Given the description of an element on the screen output the (x, y) to click on. 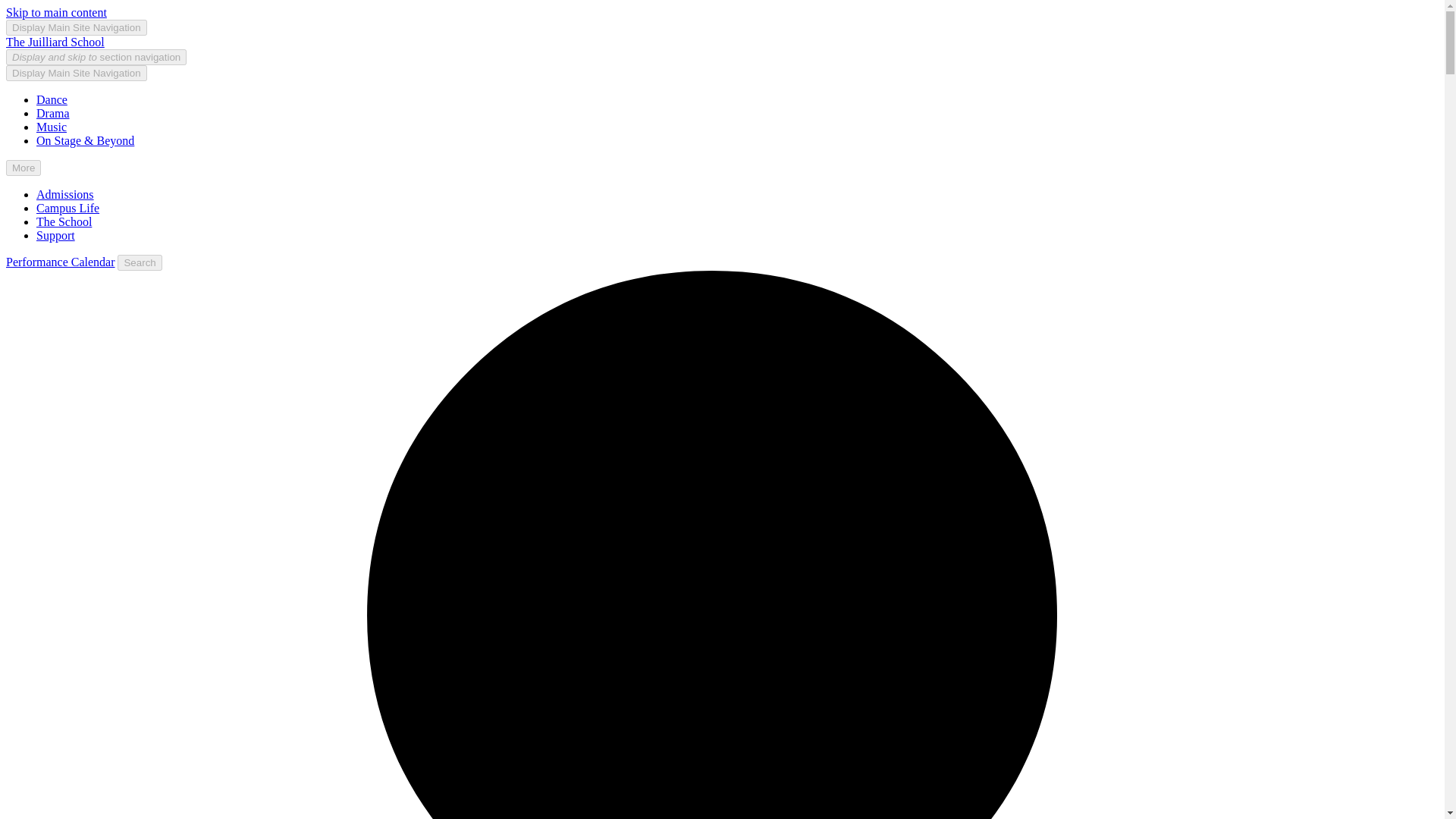
The School (63, 221)
Display Main Site Navigation (76, 27)
Performance Calendar (60, 261)
Dance (51, 99)
More (22, 167)
Display and skip to section navigation (95, 57)
Music (51, 126)
Support (55, 235)
Search (139, 262)
Display Main Site Navigation (76, 73)
Admissions (65, 194)
Home (54, 42)
Drama (52, 113)
Campus Life (67, 207)
The Juilliard School (54, 42)
